Given the description of an element on the screen output the (x, y) to click on. 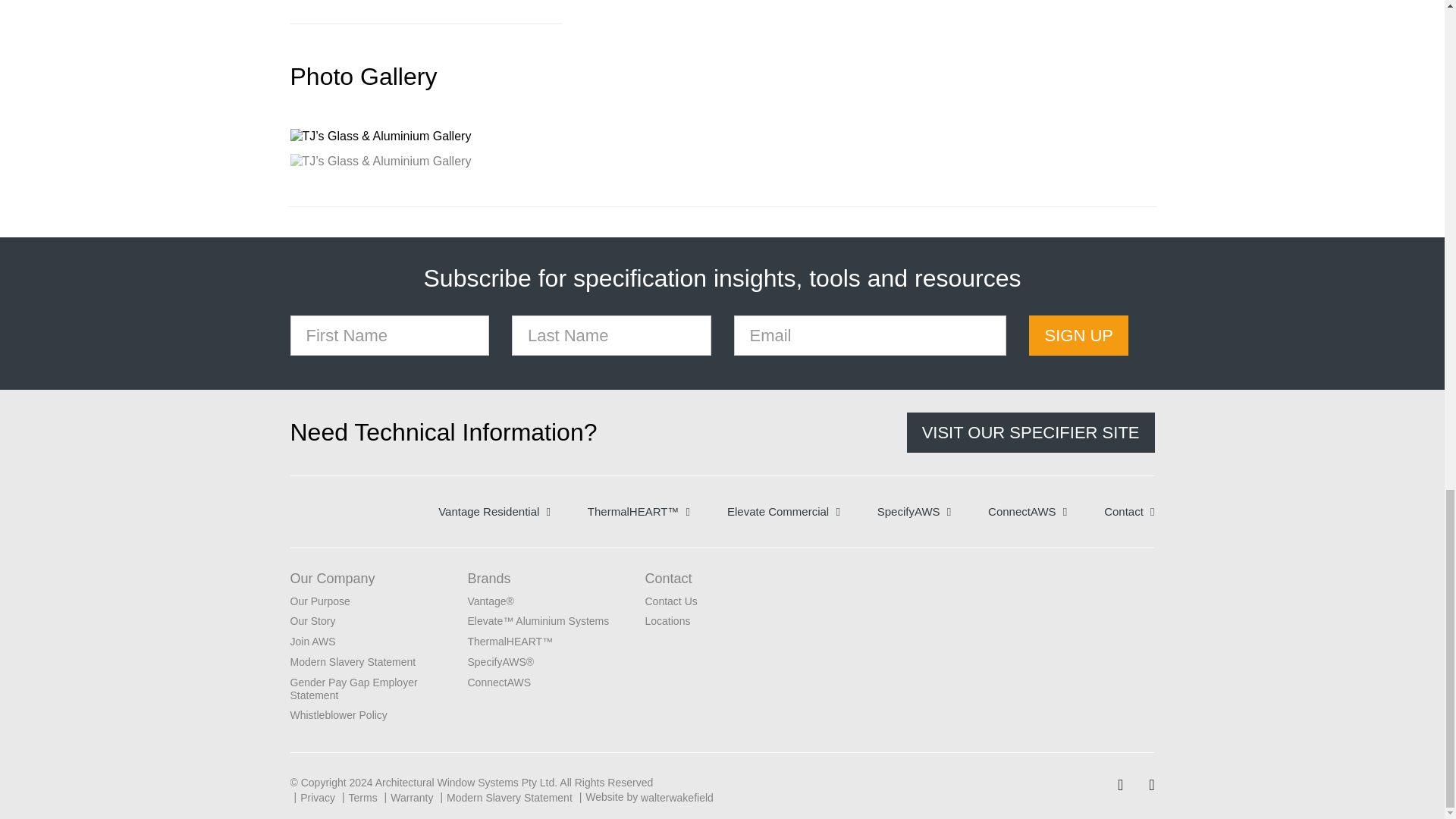
SIGN UP (1077, 335)
Elevate Commercial (783, 511)
ConnectAWS (1027, 511)
VISIT OUR SPECIFIER SITE (1030, 432)
Vantage Residential (494, 511)
SIGN UP (1077, 335)
SpecifyAWS (913, 511)
Contact (1128, 511)
